Given the description of an element on the screen output the (x, y) to click on. 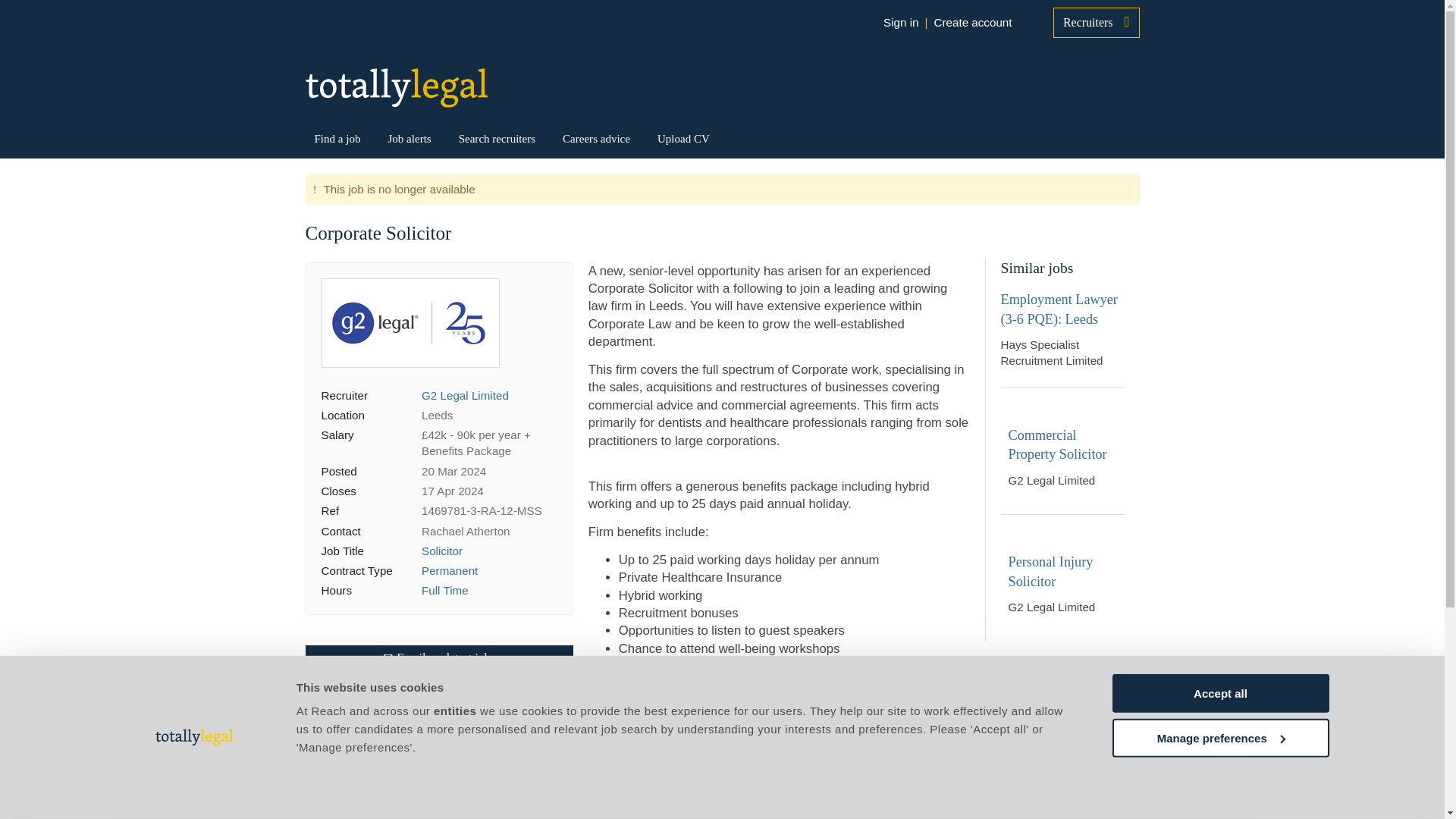
entities (455, 710)
